Given the description of an element on the screen output the (x, y) to click on. 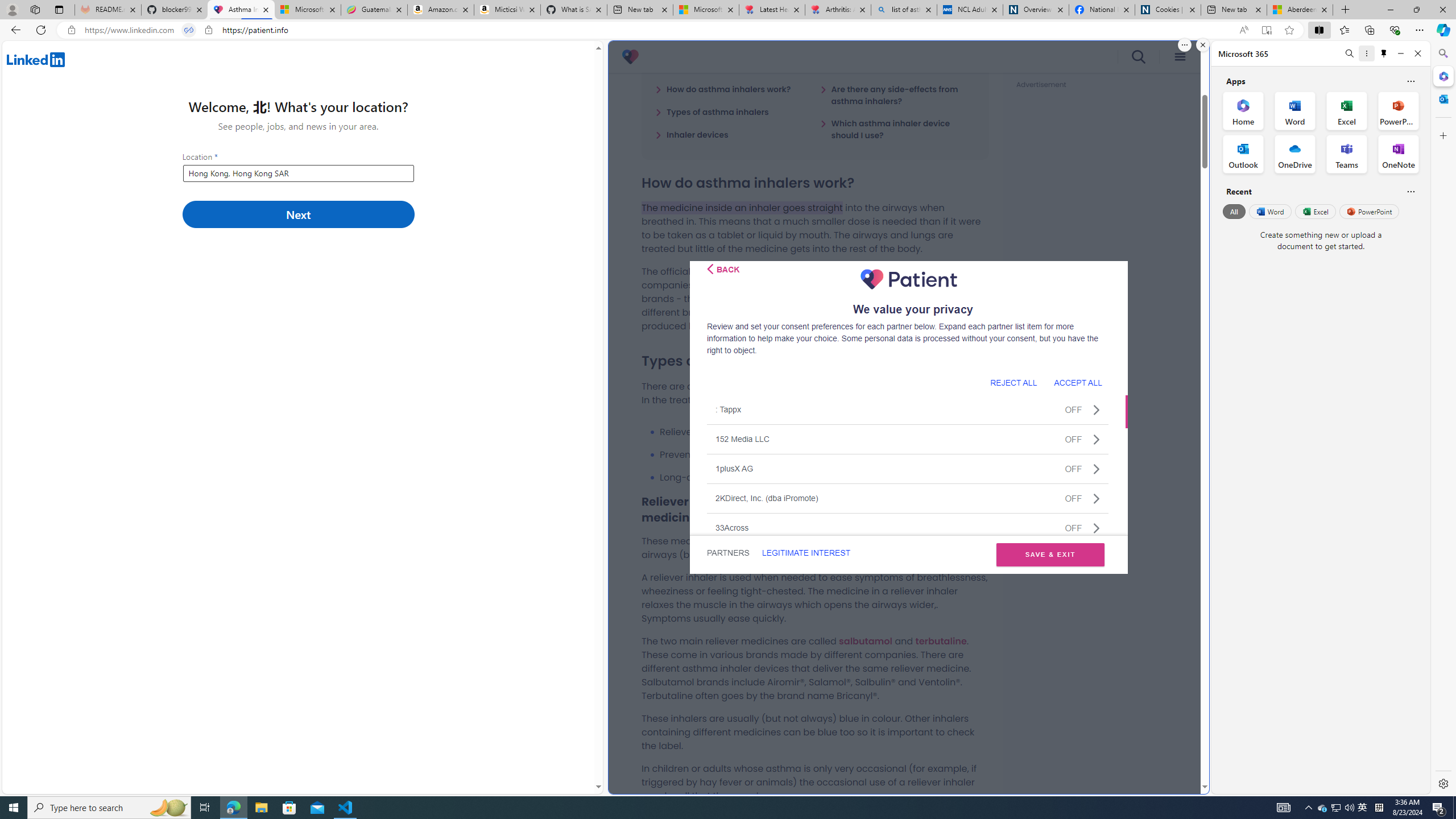
Tabs in split screen (189, 29)
Inhaler devices (691, 134)
NCL Adult Asthma Inhaler Choice Guideline (969, 9)
OneNote Office App (1398, 154)
Cookies | About | NICE (1167, 9)
Are there any side-effects from asthma inhalers? (897, 94)
Word (1269, 210)
